Given the description of an element on the screen output the (x, y) to click on. 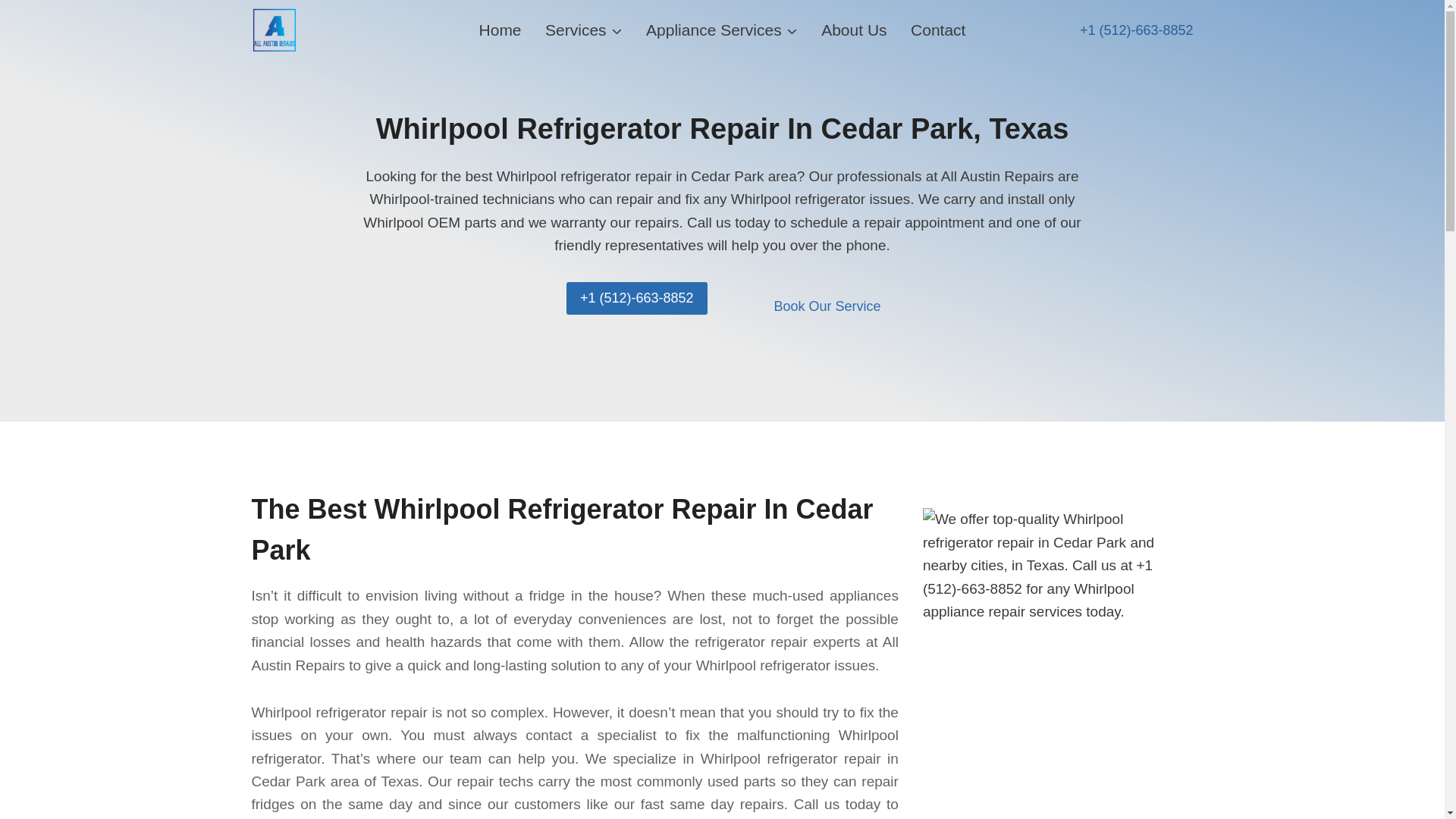
Whirlpool Refrigerator Repair in Cedar Park 1 (1058, 565)
Home (500, 30)
Book Our Service (826, 306)
About Us (853, 30)
Appliance Services (721, 30)
Contact (937, 30)
Services (582, 30)
